Given the description of an element on the screen output the (x, y) to click on. 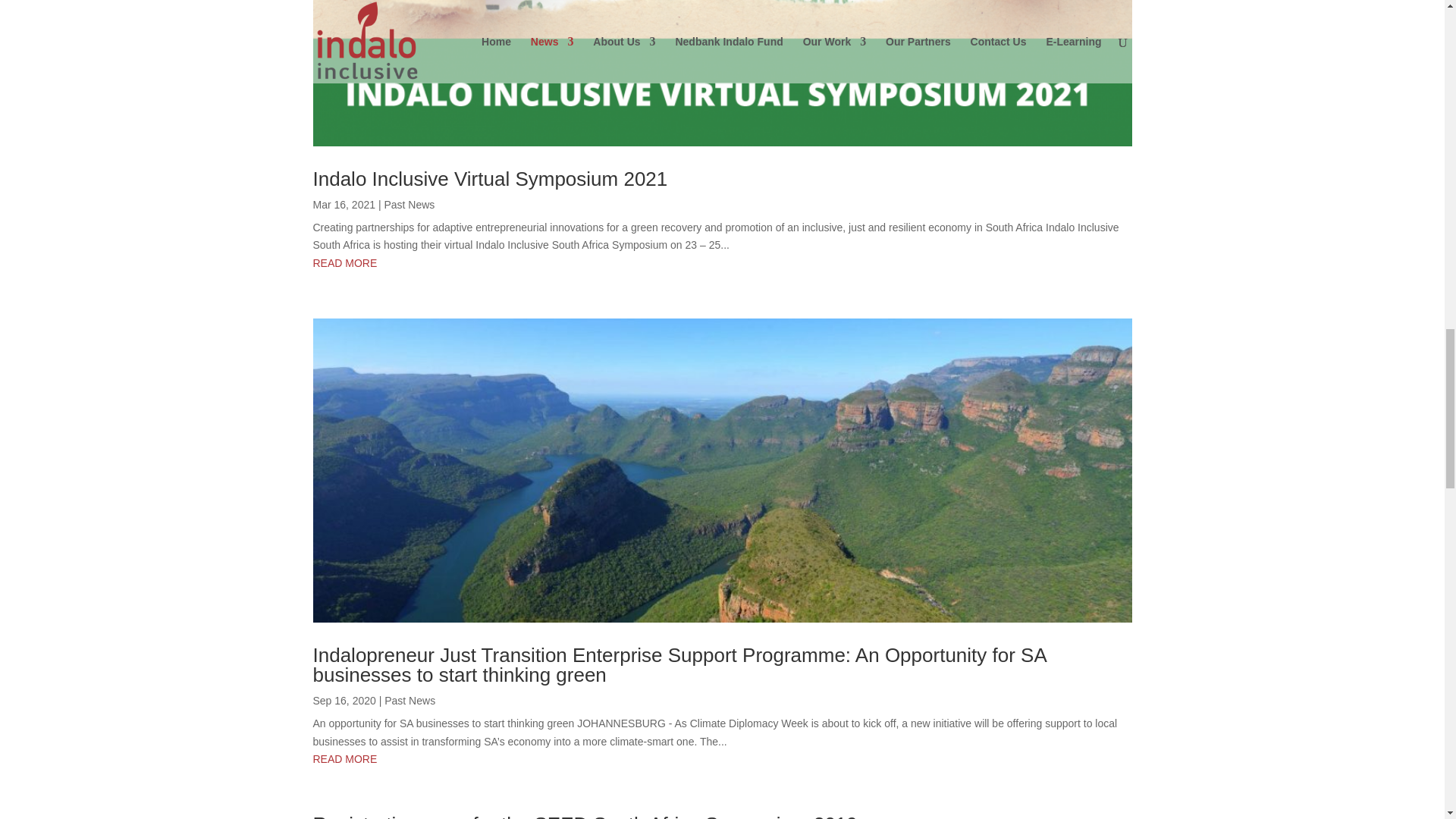
Past News (409, 700)
READ MORE (722, 263)
READ MORE (722, 760)
Past News (408, 204)
Indalo Inclusive Virtual Symposium 2021 (489, 178)
